Given the description of an element on the screen output the (x, y) to click on. 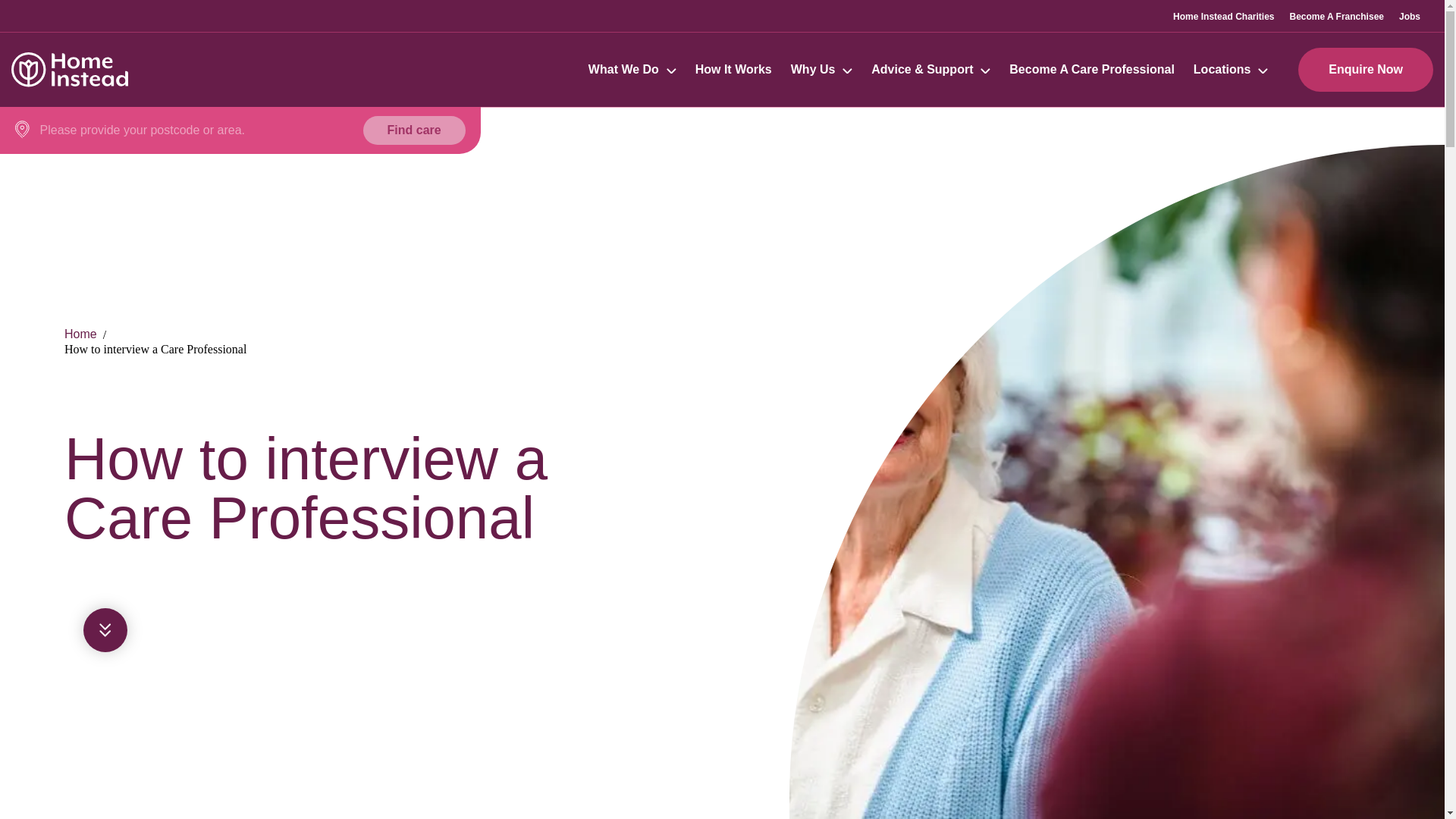
How It Works (733, 69)
Home Instead Charities (1223, 15)
What We Do (623, 69)
How It Works (733, 69)
Jobs (1410, 15)
What We Do (632, 69)
Locations (1221, 69)
Become A Care Professional (1091, 69)
Why Us (820, 69)
What We Do (623, 69)
Become A Franchisee (1336, 15)
Locations (1230, 69)
Why Us (812, 69)
Why Us (812, 69)
